Given the description of an element on the screen output the (x, y) to click on. 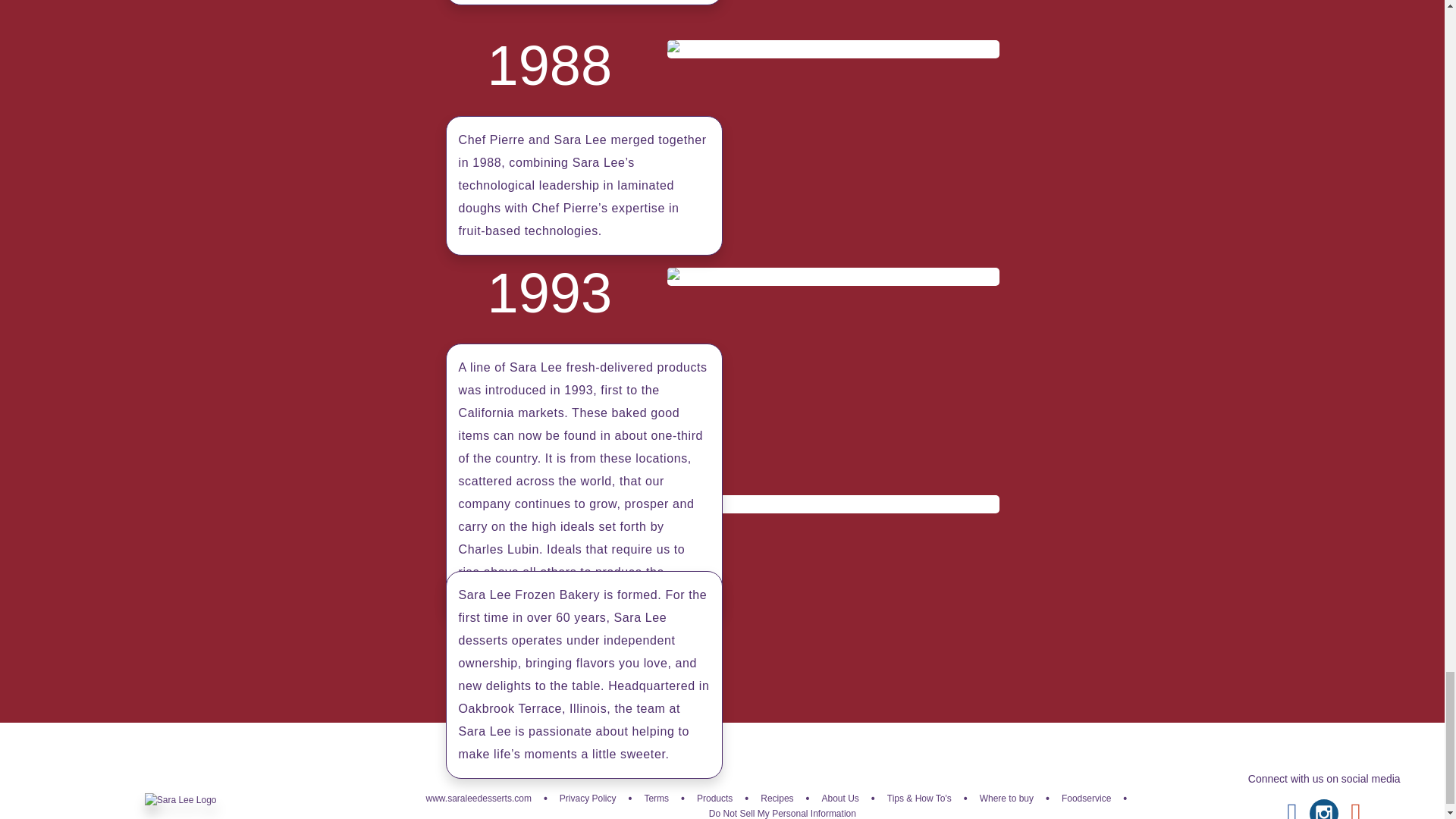
Recipes (776, 798)
Products (714, 798)
pinterest (1356, 809)
Privacy Policy (587, 798)
Terms (655, 798)
www.saraleedesserts.com (478, 798)
instagram (1323, 809)
facebook (1292, 809)
